Given the description of an element on the screen output the (x, y) to click on. 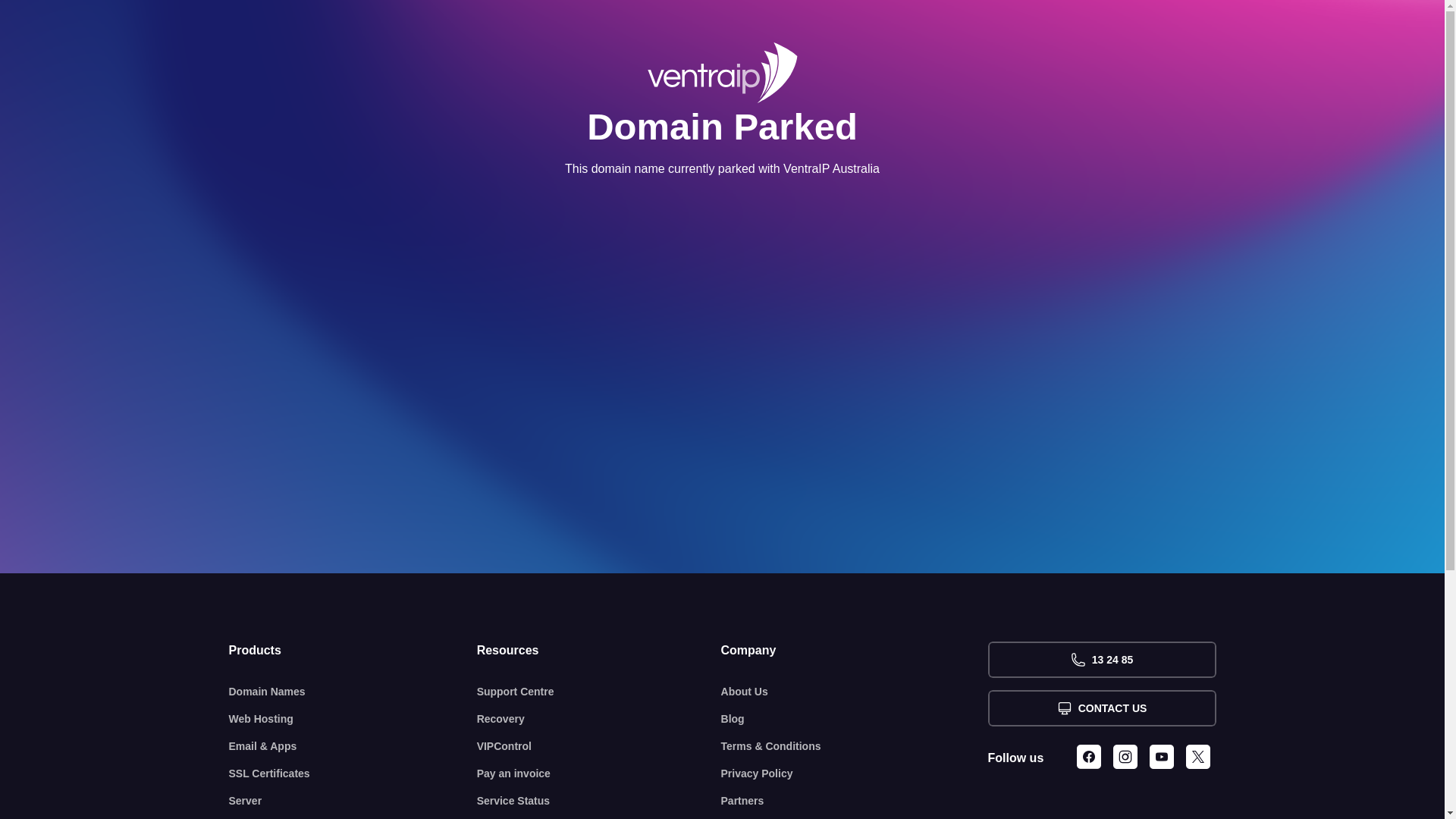
About Us Element type: text (854, 691)
Pay an invoice Element type: text (598, 773)
Service Status Element type: text (598, 800)
Recovery Element type: text (598, 718)
SSL Certificates Element type: text (352, 773)
CONTACT US Element type: text (1101, 708)
Blog Element type: text (854, 718)
VIPControl Element type: text (598, 745)
Domain Names Element type: text (352, 691)
Privacy Policy Element type: text (854, 773)
Email & Apps Element type: text (352, 745)
Web Hosting Element type: text (352, 718)
Server Element type: text (352, 800)
13 24 85 Element type: text (1101, 659)
Support Centre Element type: text (598, 691)
Terms & Conditions Element type: text (854, 745)
Partners Element type: text (854, 800)
